Given the description of an element on the screen output the (x, y) to click on. 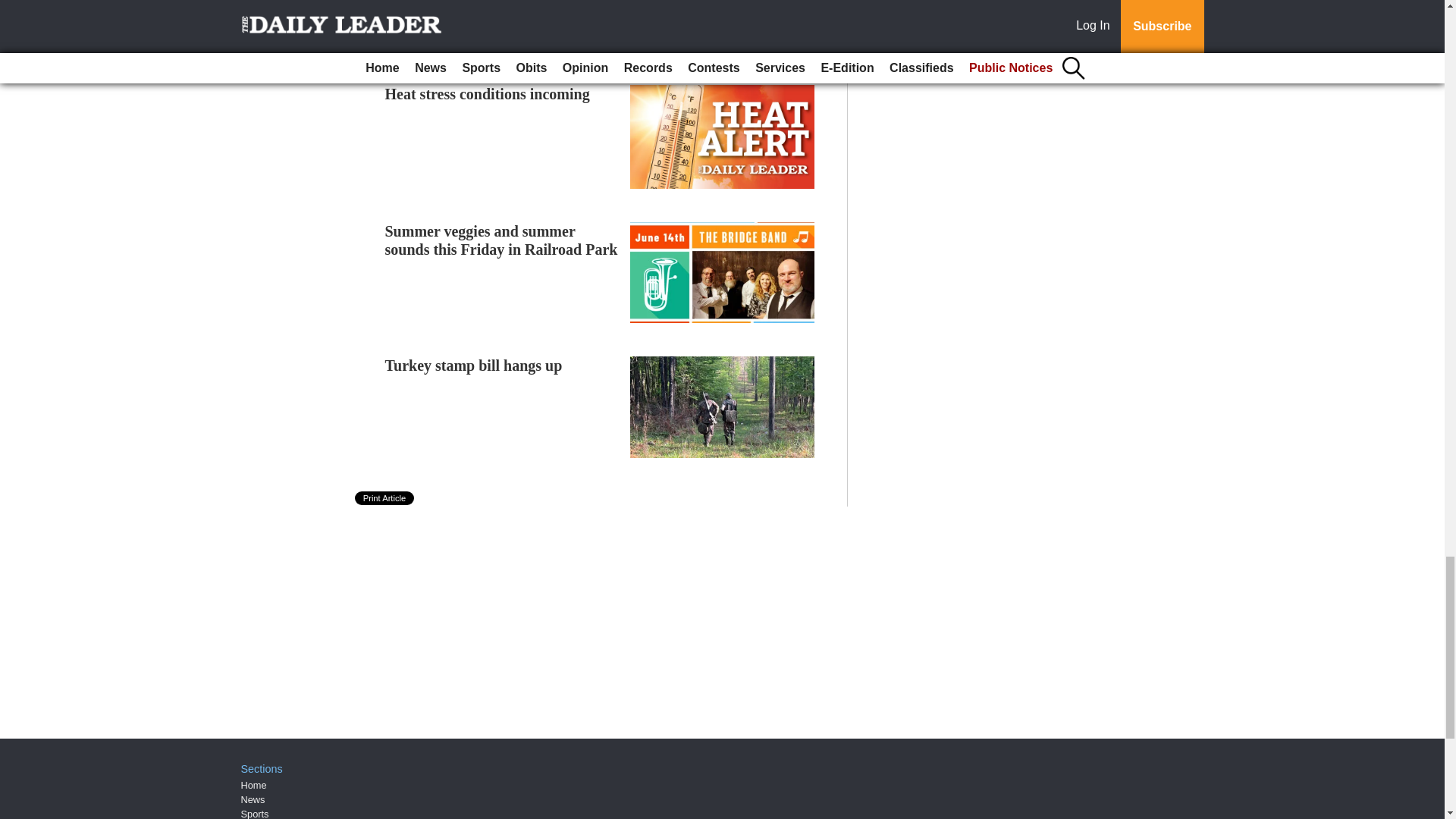
Turkey stamp bill hangs up (473, 365)
Print Article (384, 498)
Turkey stamp bill hangs up (473, 365)
Heat stress conditions incoming (487, 93)
Heat stress conditions incoming (487, 93)
